Given the description of an element on the screen output the (x, y) to click on. 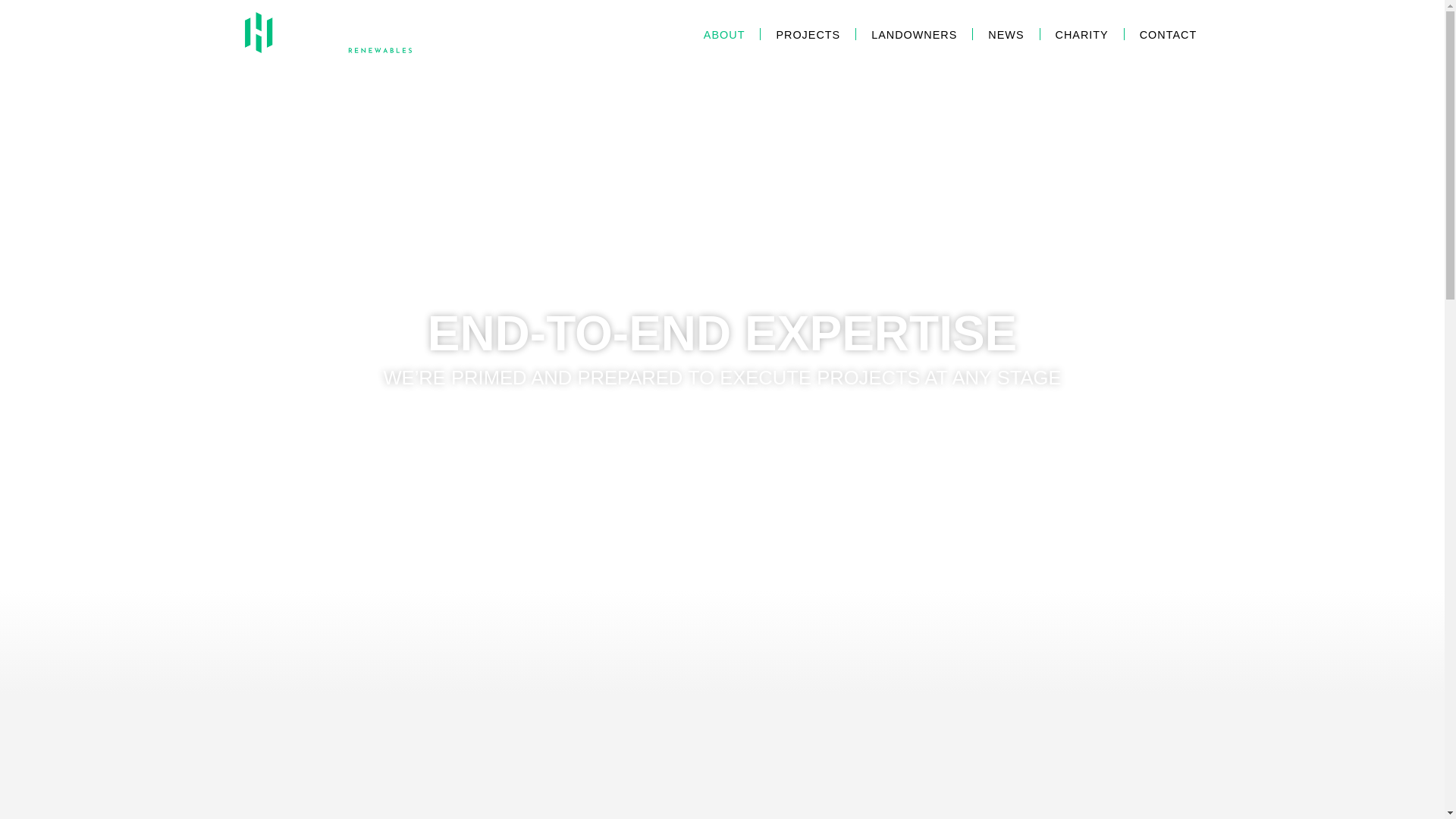
ABOUT (731, 33)
CHARITY (1081, 33)
NEWS (1005, 33)
LANDOWNERS (914, 33)
PROJECTS (808, 33)
CONTACT (1160, 33)
